Given the description of an element on the screen output the (x, y) to click on. 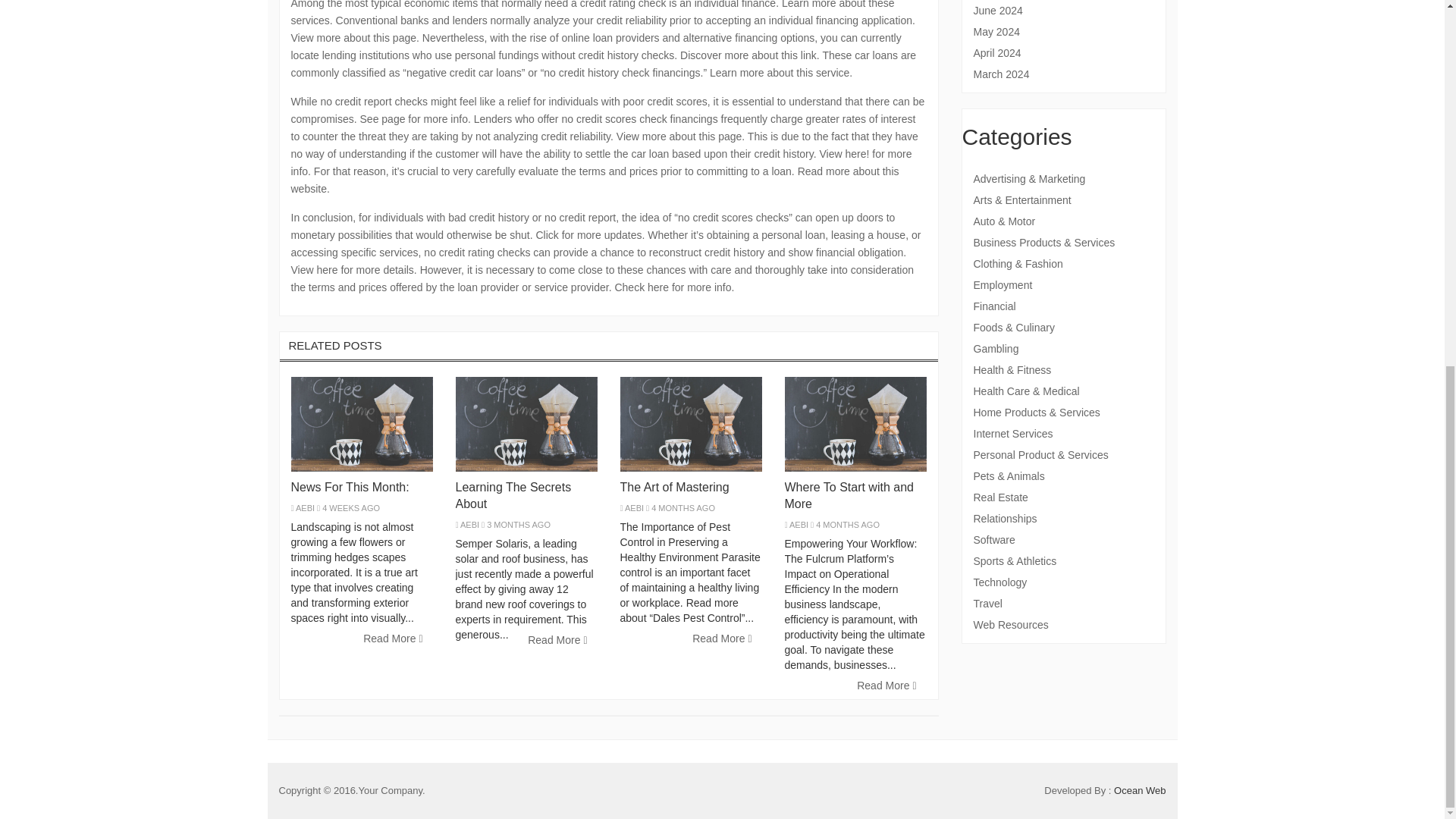
Read More (886, 686)
Read More (392, 638)
Read More (557, 640)
Read More (721, 638)
Where To Start with and More (848, 495)
Learning The Secrets About (512, 495)
The Art of Mastering (674, 486)
News For This Month: (350, 486)
